Given the description of an element on the screen output the (x, y) to click on. 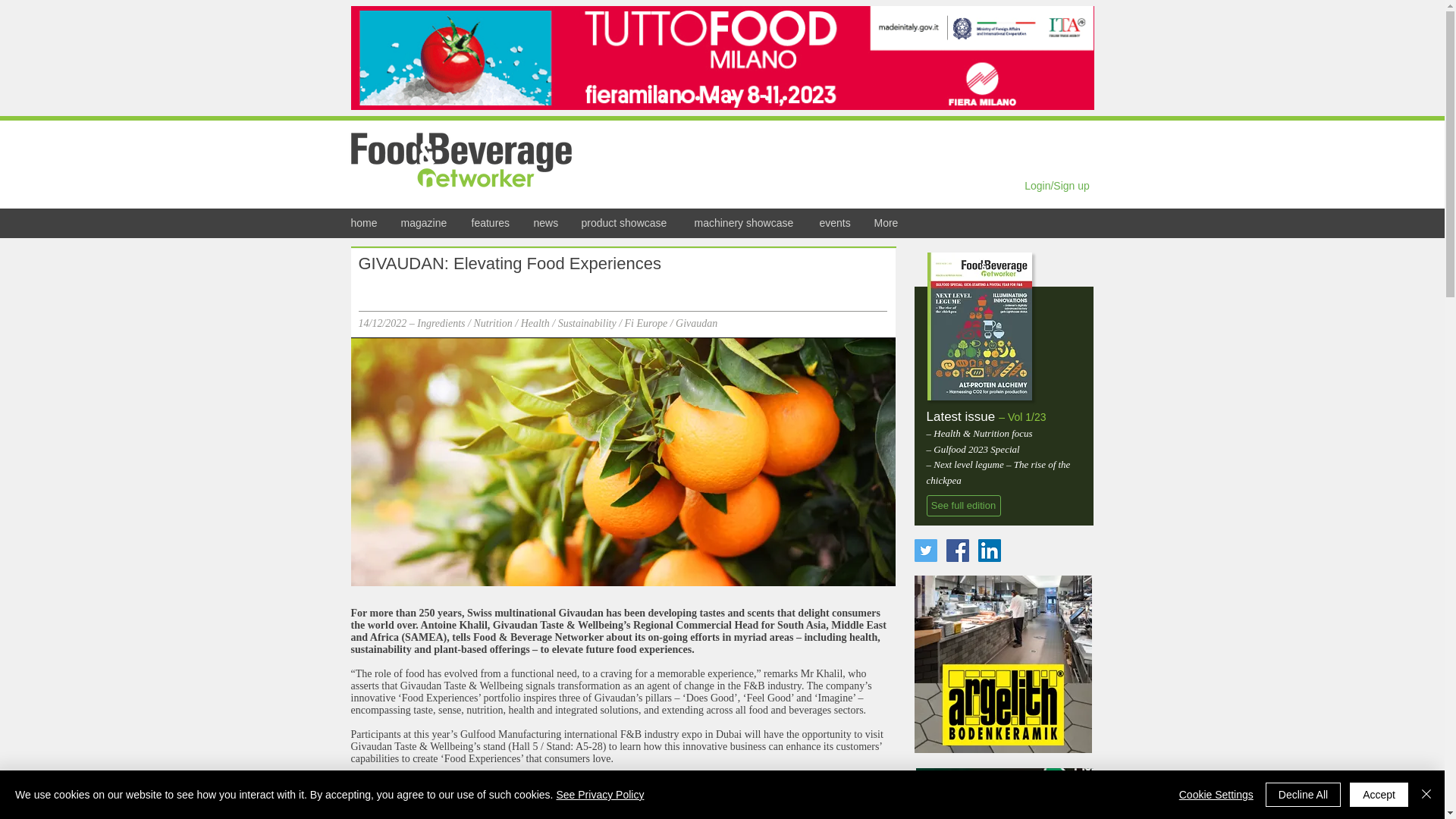
magazine (425, 223)
home (364, 223)
machinery showcase (745, 223)
events (835, 223)
See full edition (963, 505)
features (490, 223)
news (545, 223)
product showcase (626, 223)
